Given the description of an element on the screen output the (x, y) to click on. 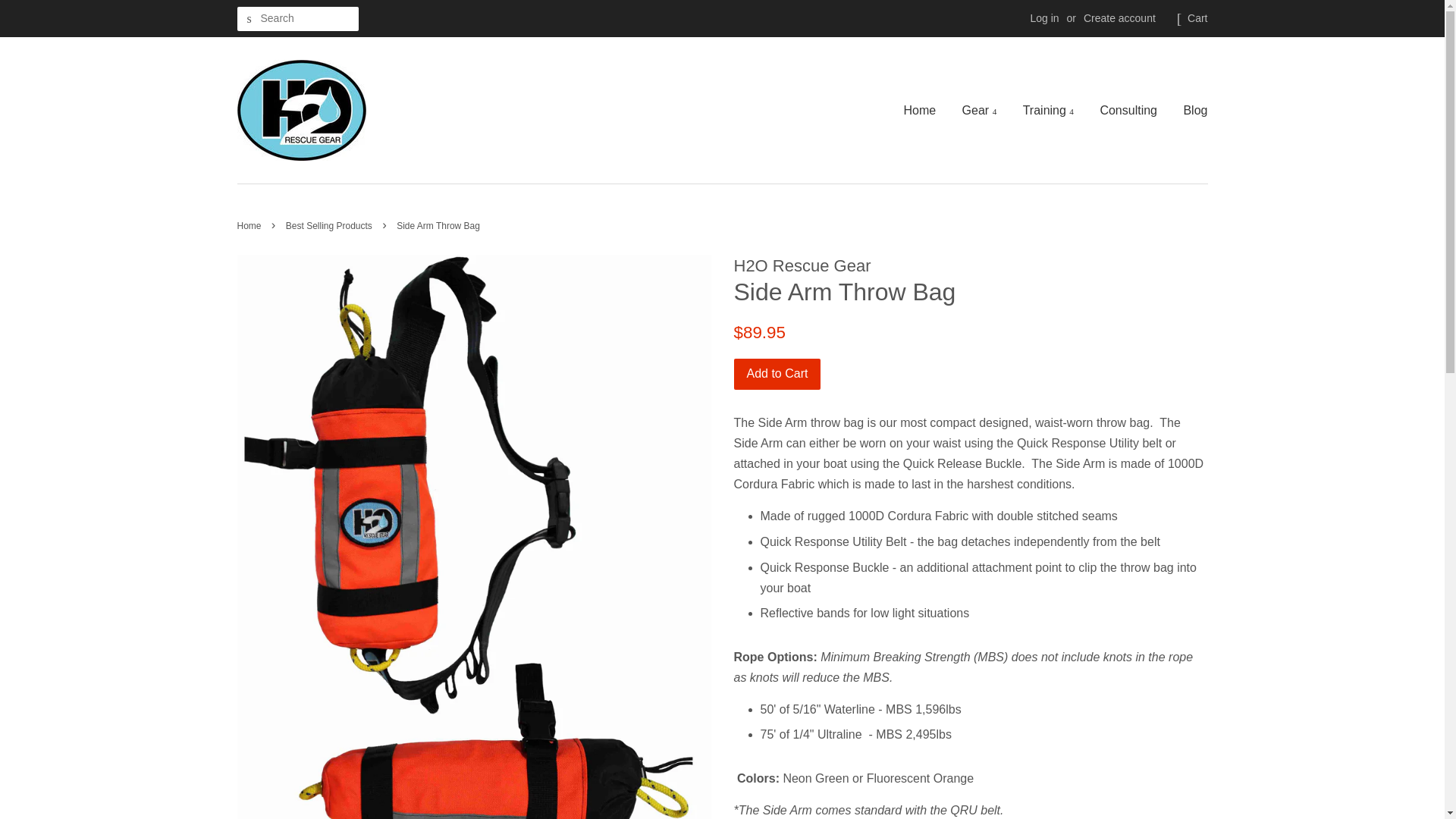
Home (924, 109)
Cart (1197, 18)
Search (247, 18)
Log in (1043, 18)
Gear (979, 109)
Create account (1119, 18)
Back to the frontpage (249, 225)
